Given the description of an element on the screen output the (x, y) to click on. 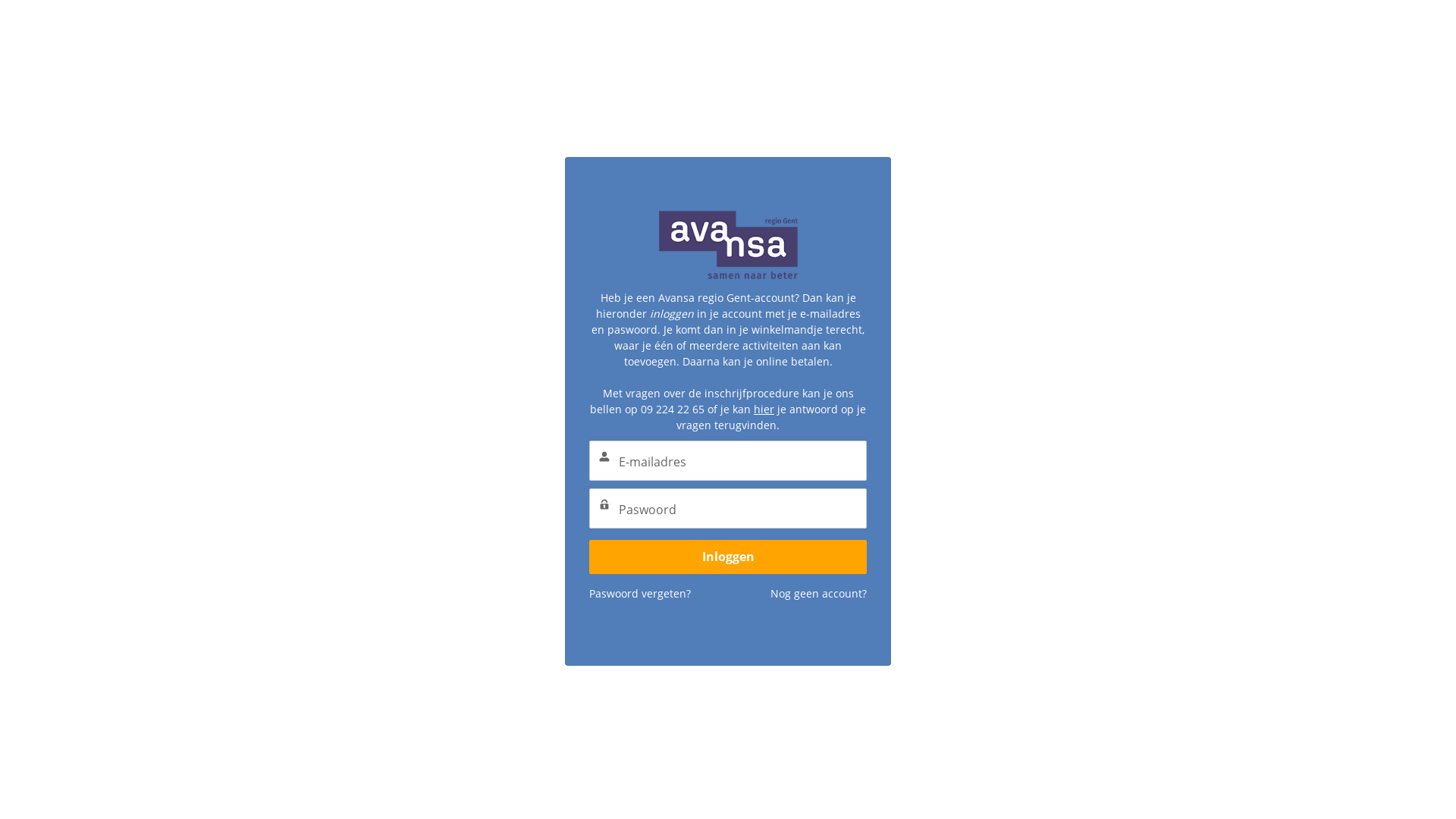
Inloggen Element type: text (727, 556)
Nog geen account? Element type: text (818, 593)
hier Element type: text (763, 408)
Paswoord vergeten? Element type: text (639, 593)
